Given the description of an element on the screen output the (x, y) to click on. 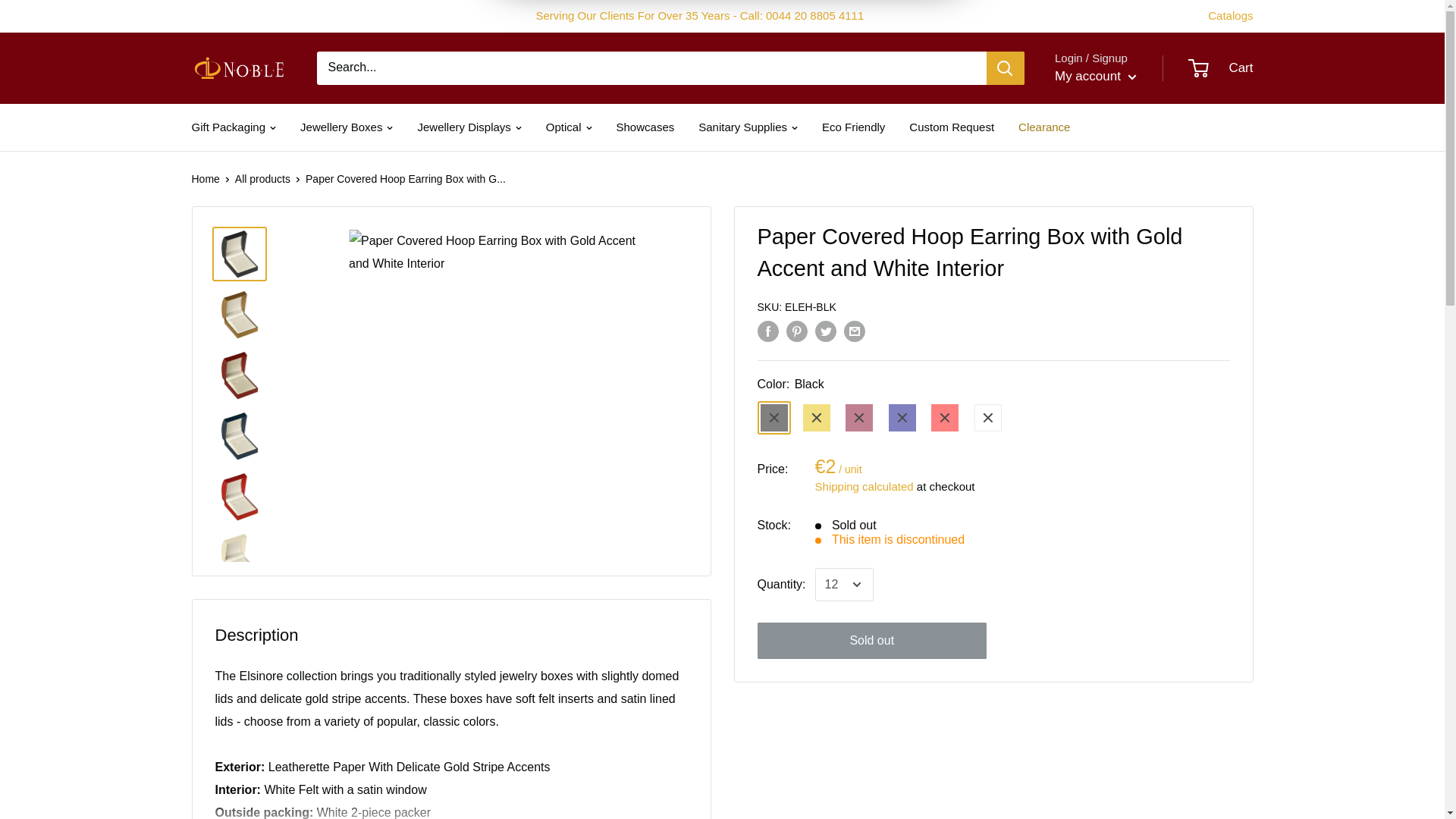
White (987, 417)
Gold (816, 417)
Catalogs (1230, 15)
Red (944, 417)
Navy Blue (901, 417)
Burgundy (858, 417)
Black (773, 417)
